Given the description of an element on the screen output the (x, y) to click on. 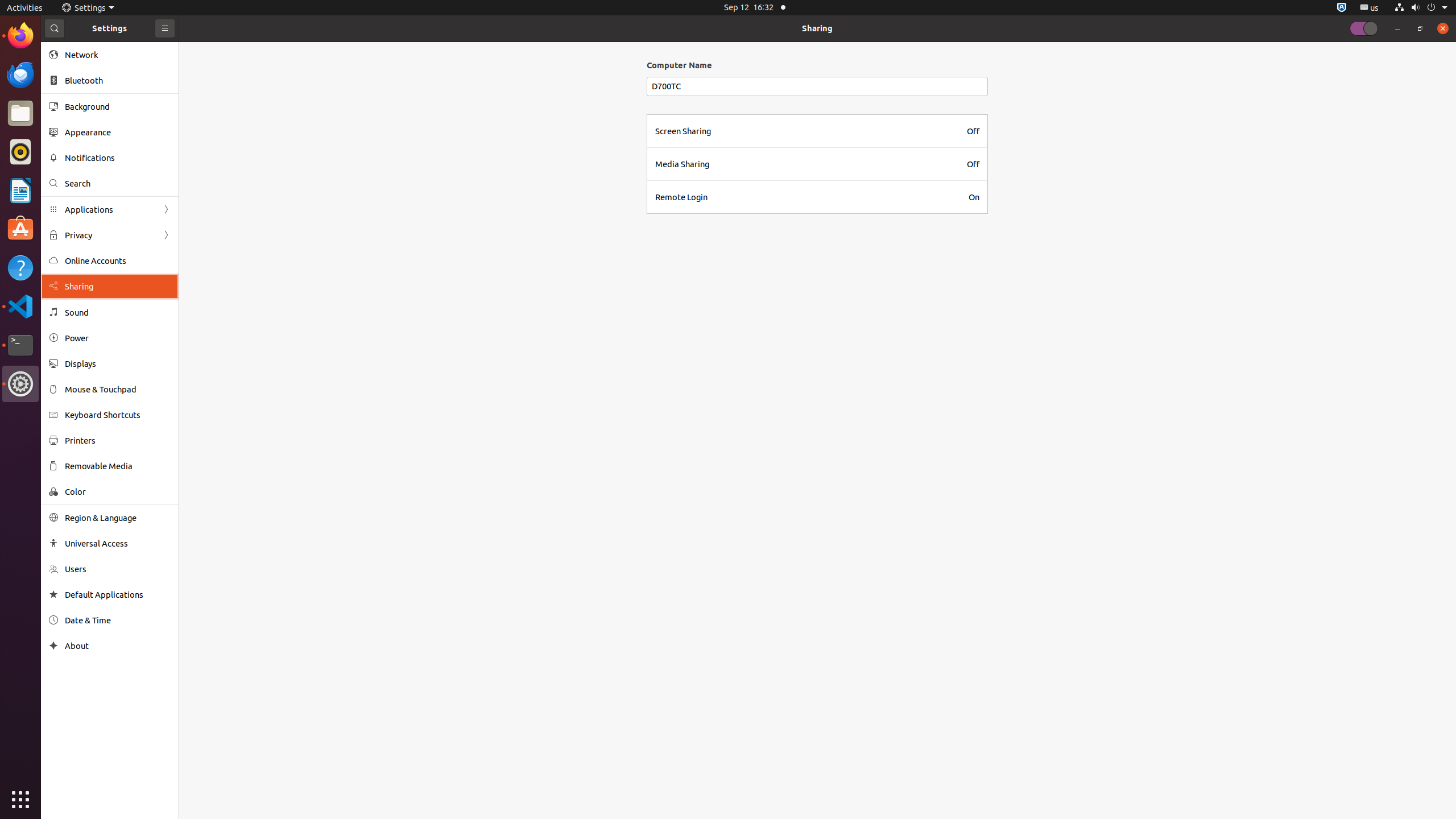
Close Element type: push-button (1442, 27)
Sound Element type: label (117, 312)
Universal Access Element type: label (117, 543)
Keyboard Shortcuts Element type: label (117, 414)
Media Sharing Element type: label (682, 163)
